Given the description of an element on the screen output the (x, y) to click on. 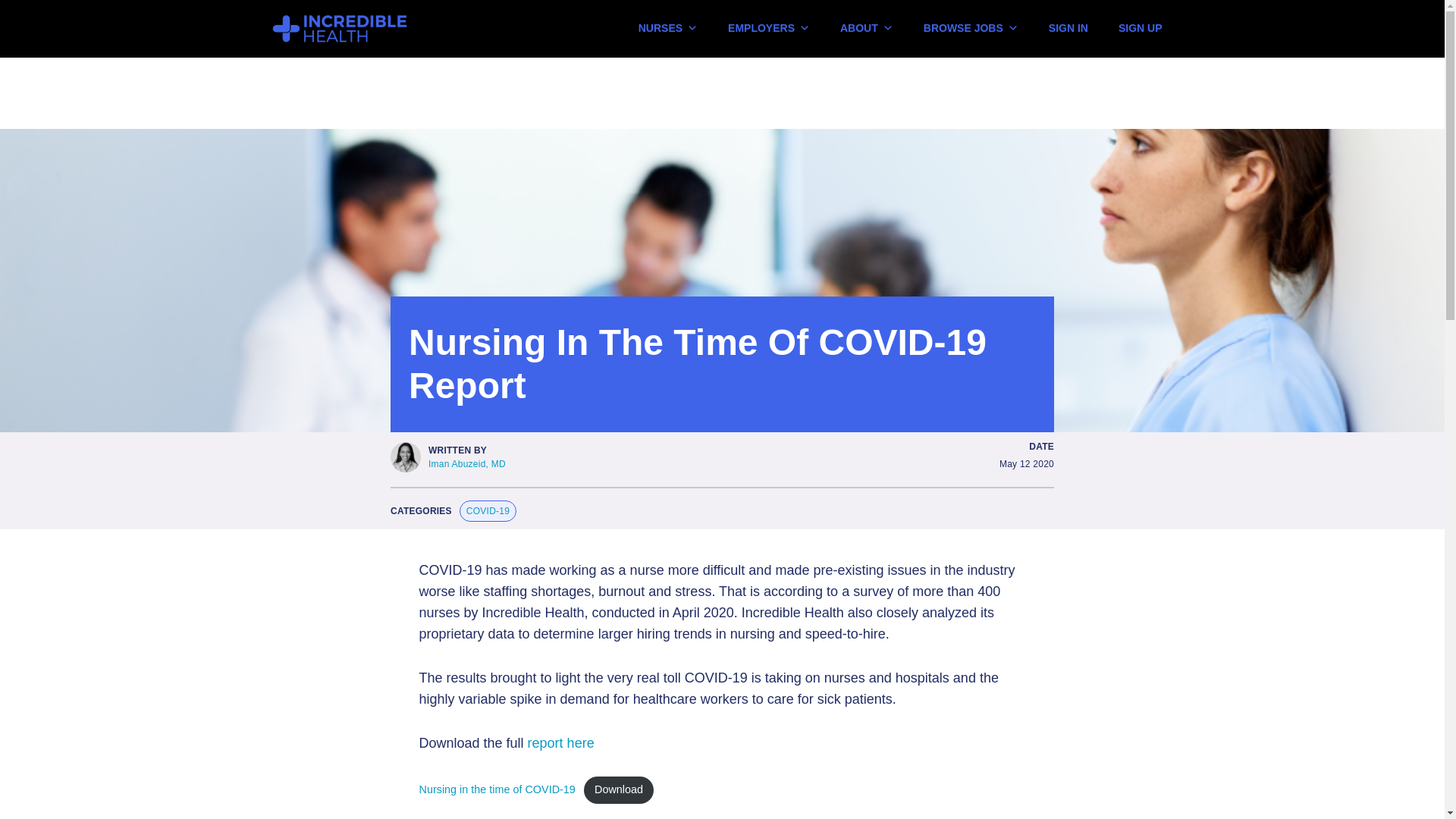
Posts by Iman Abuzeid, MD (466, 463)
ABOUT (866, 23)
NURSES (668, 23)
EMPLOYERS (768, 23)
INCREDIBLE HEALTH (372, 28)
